Given the description of an element on the screen output the (x, y) to click on. 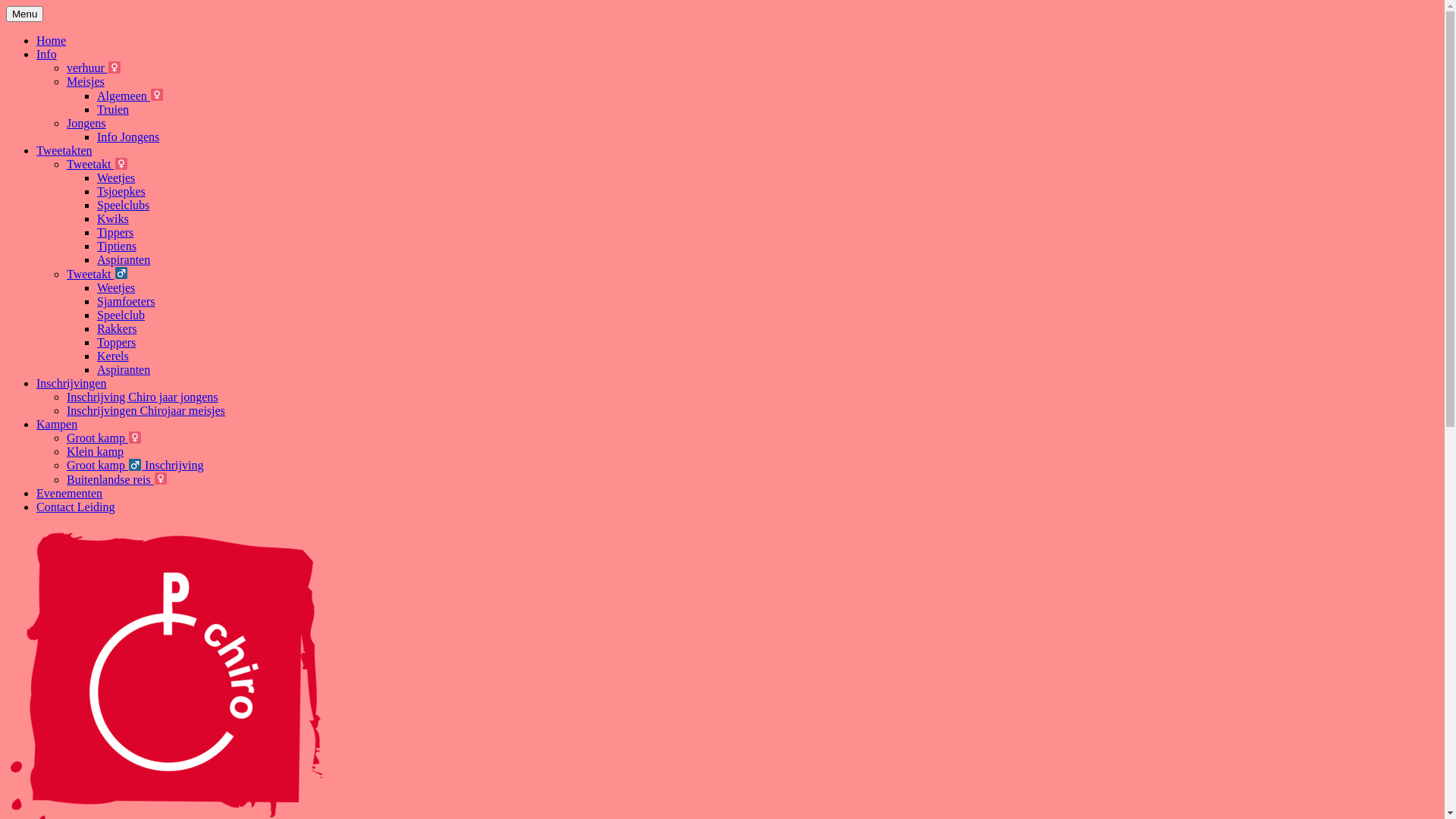
Tweetakten Element type: text (64, 150)
Kampen Element type: text (56, 423)
Aspiranten Element type: text (123, 259)
Info Jongens Element type: text (128, 136)
Toppers Element type: text (116, 341)
Groot kamp Inschrijving Element type: text (134, 464)
Kwiks Element type: text (112, 218)
Jongens Element type: text (86, 122)
verhuur Element type: text (93, 67)
Inschrijvingen Chirojaar meisjes Element type: text (145, 410)
Tweetakt Element type: text (97, 163)
Rakkers Element type: text (116, 328)
Inschrijvingen Element type: text (71, 382)
Tiptiens Element type: text (116, 245)
Speelclub Element type: text (120, 314)
Inschrijving Chiro jaar jongens Element type: text (142, 396)
Algemeen Element type: text (130, 95)
Weetjes Element type: text (115, 287)
Truien Element type: text (112, 109)
Evenementen Element type: text (69, 492)
Skip to content Element type: text (5, 5)
Contact Leiding Element type: text (75, 506)
Menu Element type: text (24, 13)
Kerels Element type: text (112, 355)
Speelclubs Element type: text (123, 204)
Klein kamp Element type: text (94, 451)
Sjamfoeters Element type: text (125, 300)
Home Element type: text (50, 40)
Aspiranten Element type: text (123, 369)
Tweetakt Element type: text (97, 273)
Tippers Element type: text (115, 231)
Meisjes Element type: text (85, 81)
Tsjoepkes Element type: text (121, 191)
Info Element type: text (46, 53)
Weetjes Element type: text (115, 177)
Buitenlandse reis Element type: text (116, 479)
Groot kamp Element type: text (103, 437)
